Given the description of an element on the screen output the (x, y) to click on. 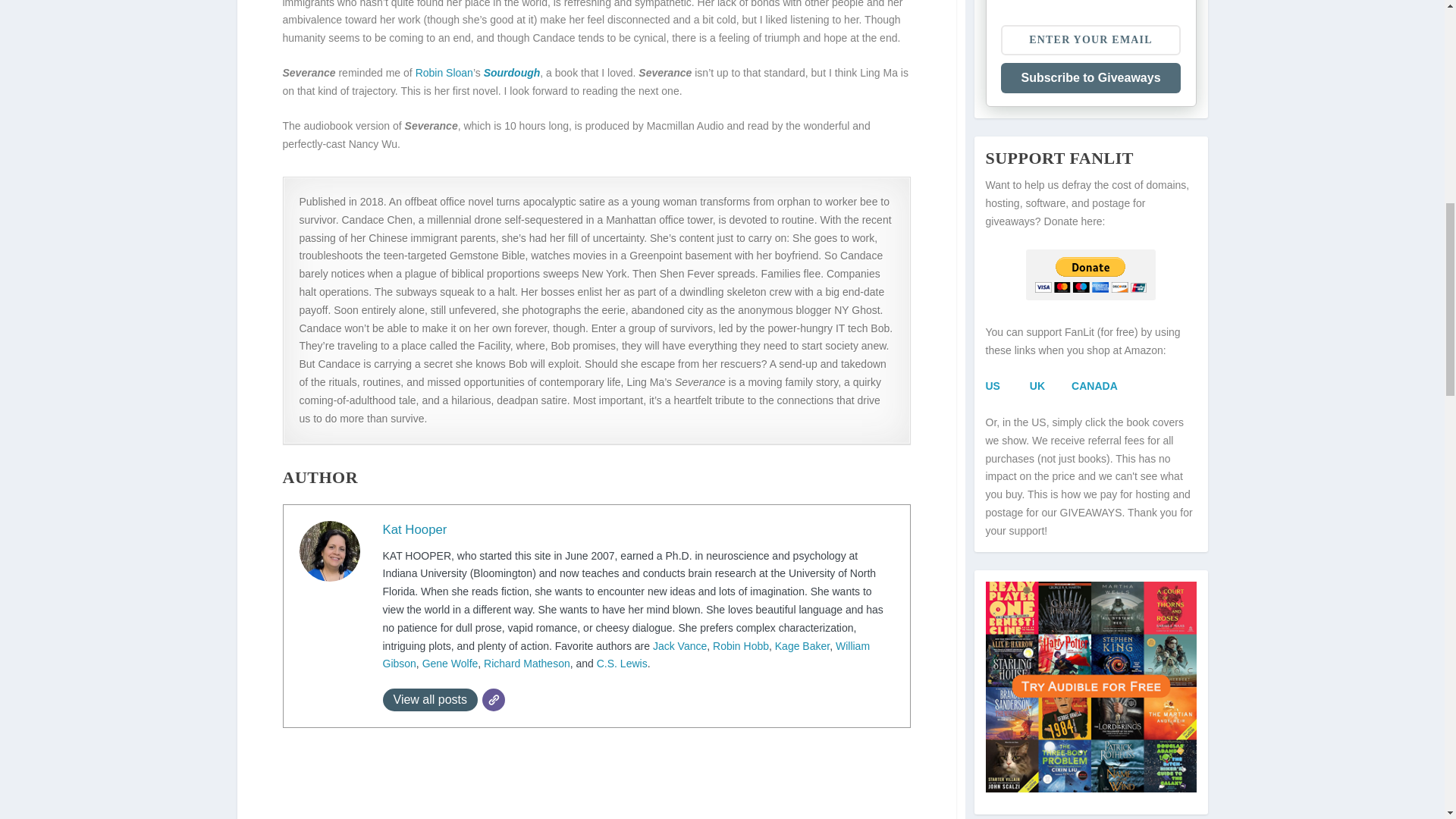
View all posts (429, 699)
Kat Hooper (413, 529)
